Given the description of an element on the screen output the (x, y) to click on. 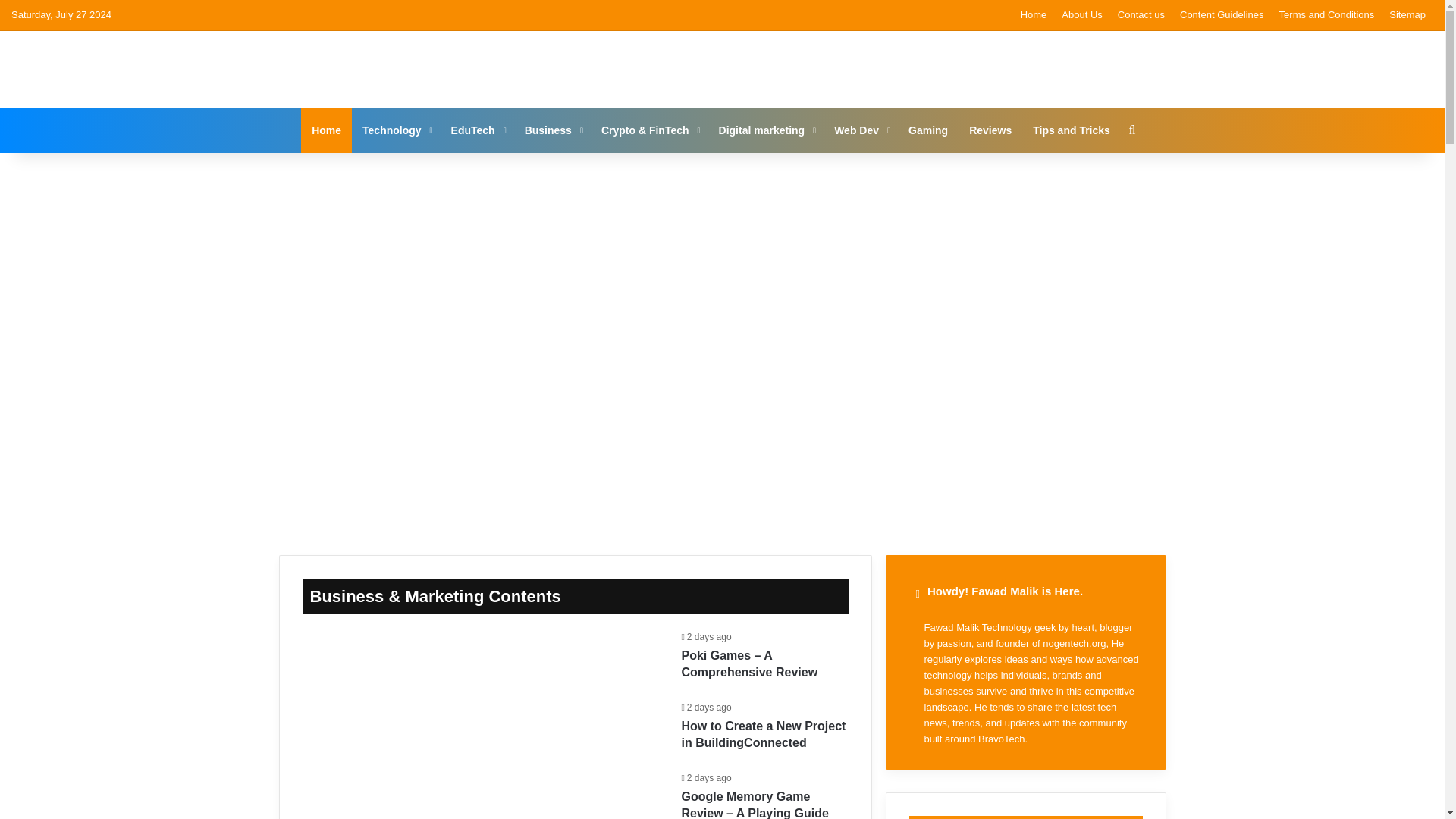
Contact us (1140, 15)
Home (326, 130)
Content Guidelines (1221, 15)
EduTech (477, 130)
Business (552, 130)
Digital marketing (765, 130)
About Us (1081, 15)
Technology (396, 130)
Terms and Conditions (1326, 15)
Sitemap (1406, 15)
Home (1033, 15)
